Given the description of an element on the screen output the (x, y) to click on. 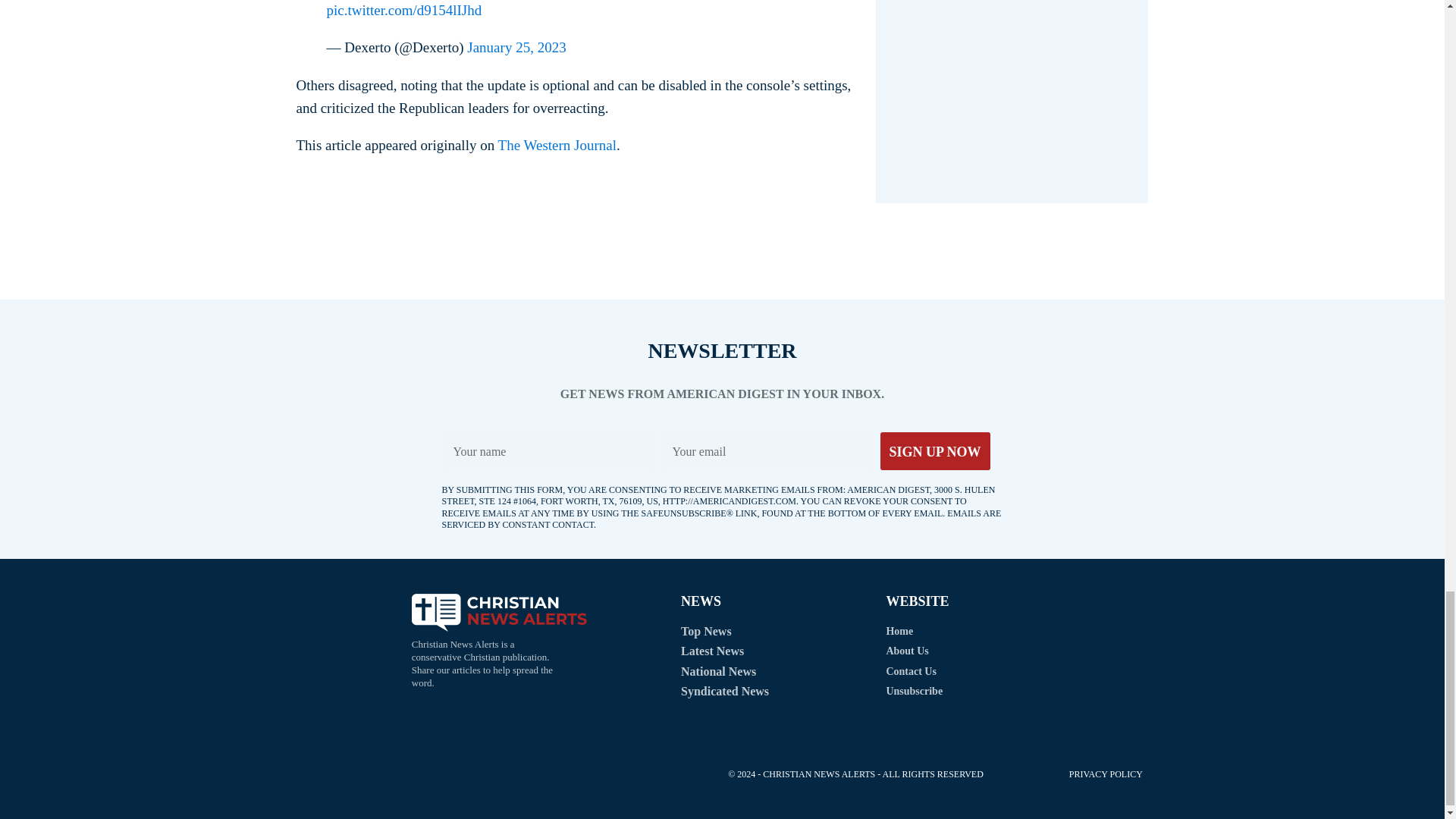
Advertisement (715, 257)
Advertisement (508, 774)
The Western Journal (556, 145)
January 25, 2023 (516, 47)
SIGN UP NOW (934, 451)
